Given the description of an element on the screen output the (x, y) to click on. 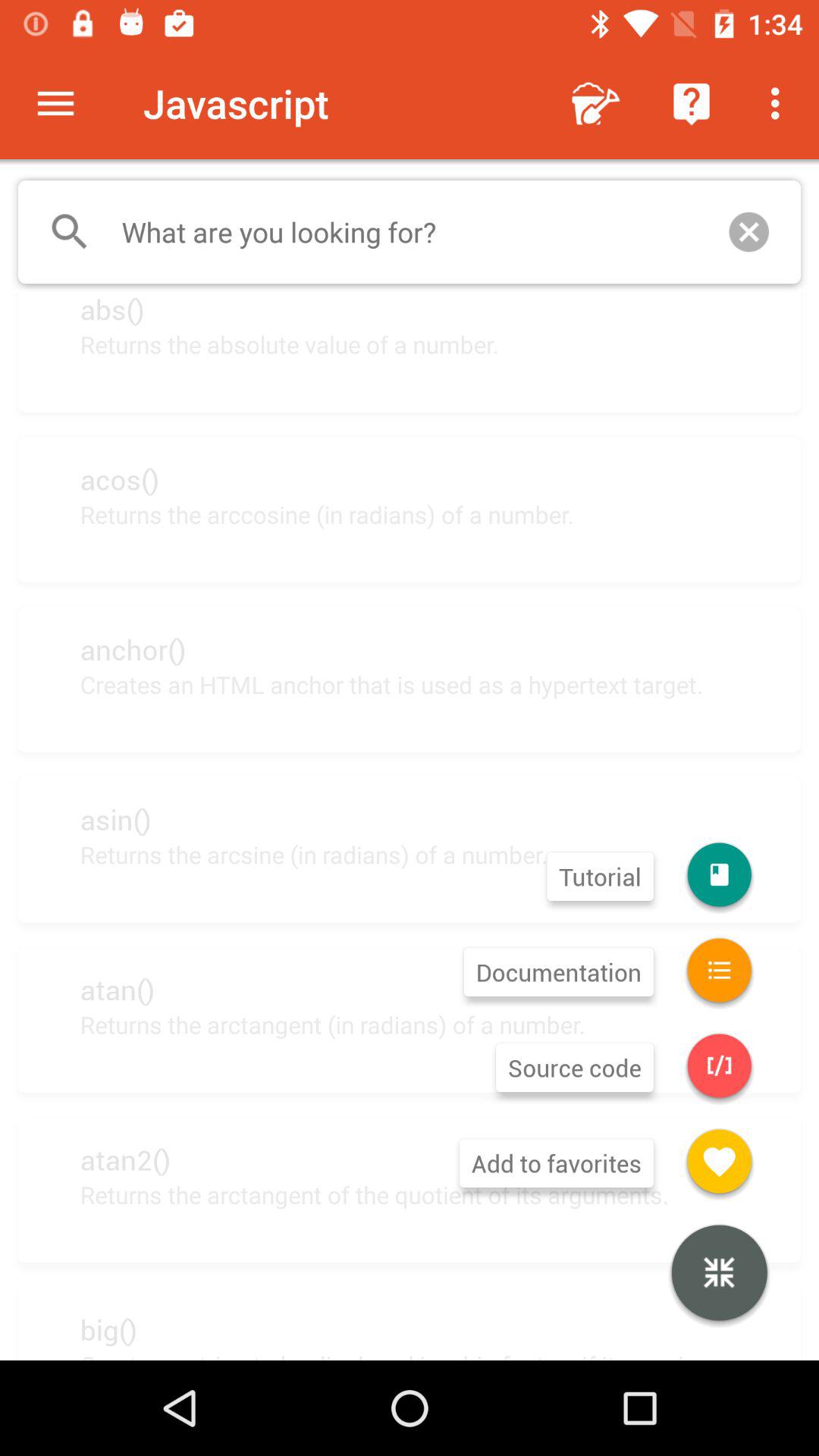
open the app to the left of the javascript item (55, 103)
